Given the description of an element on the screen output the (x, y) to click on. 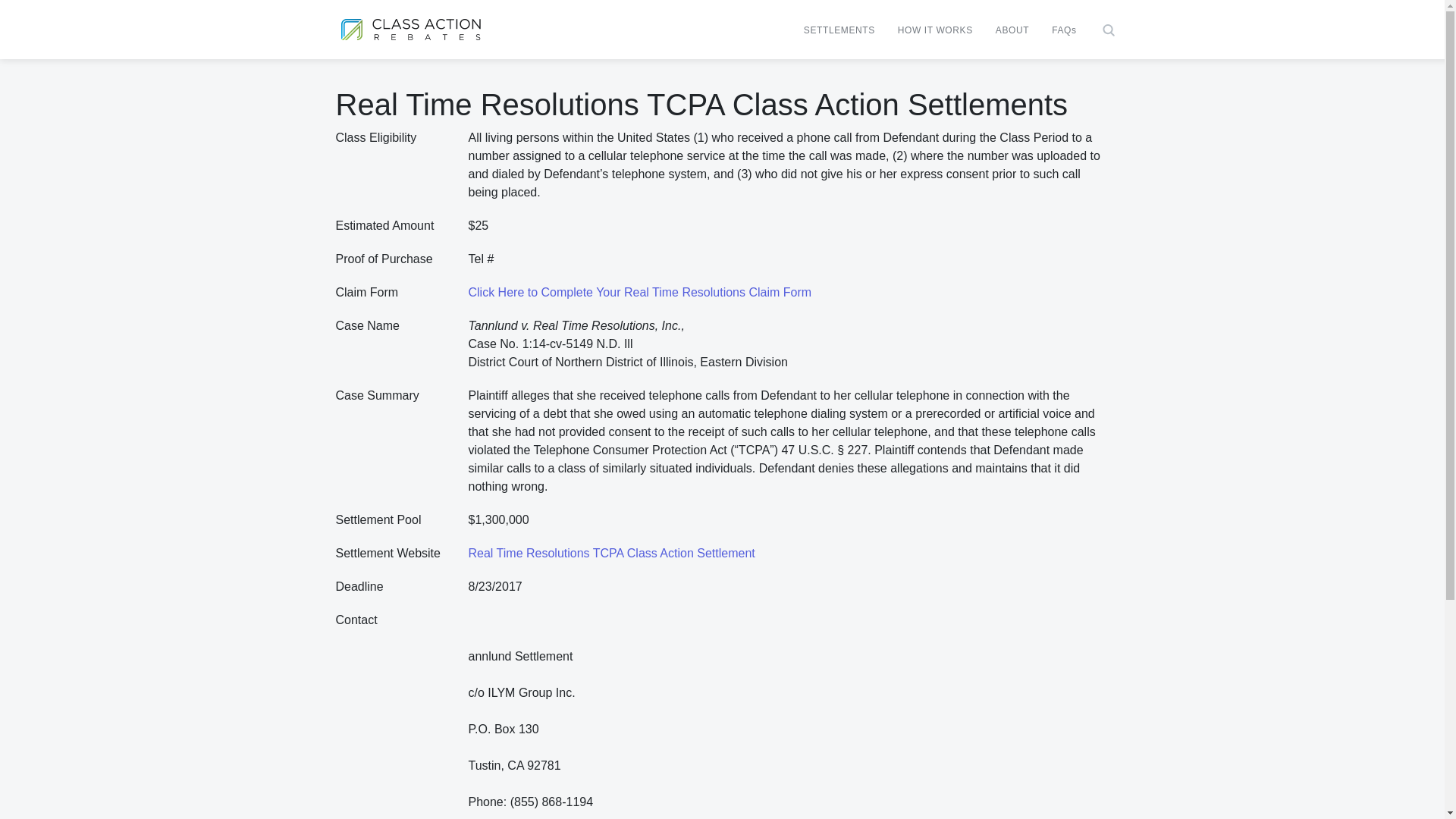
Real Time Resolutions TCPA Class Action Settlement (611, 553)
FAQs (1064, 30)
ABOUT (1012, 30)
Click Here to Complete Your Real Time Resolutions Claim Form (640, 291)
SETTLEMENTS (839, 30)
HOW IT WORKS (935, 30)
Class Action Rebates Logo (410, 29)
